Given the description of an element on the screen output the (x, y) to click on. 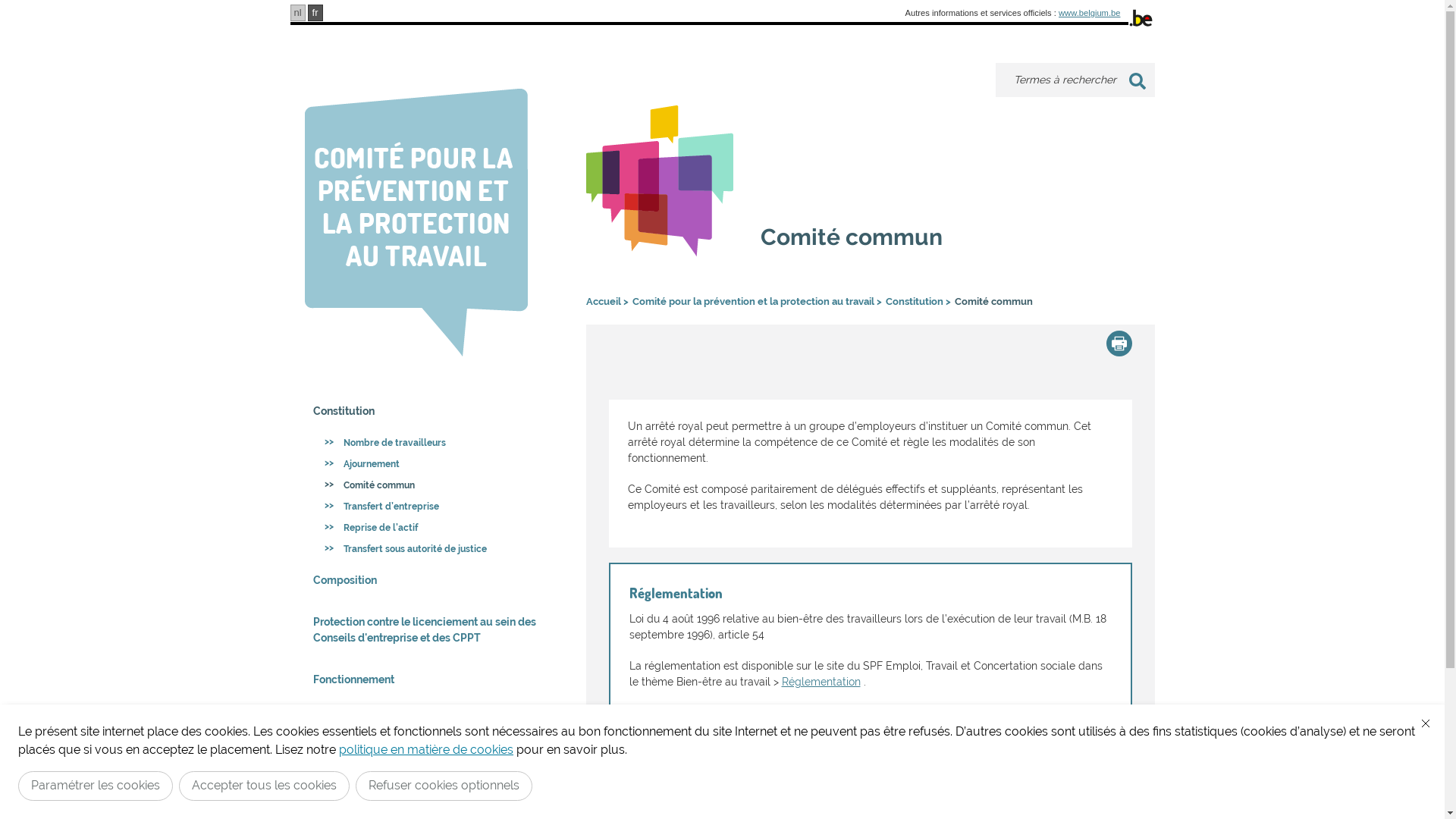
Imprimer Element type: text (1118, 343)
Composition Element type: text (426, 580)
Accepter tous les cookies Element type: text (263, 785)
Fermer Element type: hover (1425, 723)
nl Element type: text (296, 12)
Constitution Element type: text (426, 411)
www.belgium.be Element type: text (1089, 12)
Accueil Element type: text (607, 301)
Ajournement Element type: text (431, 463)
Refuser cookies optionnels Element type: text (443, 785)
ALLER AU CONTENU PRINCIPAL Element type: text (721, 7)
Nombre de travailleurs Element type: text (431, 442)
Apply Element type: text (1136, 80)
fr Element type: text (315, 12)
Constitution Element type: text (918, 301)
Fonctionnement Element type: text (426, 679)
